Given the description of an element on the screen output the (x, y) to click on. 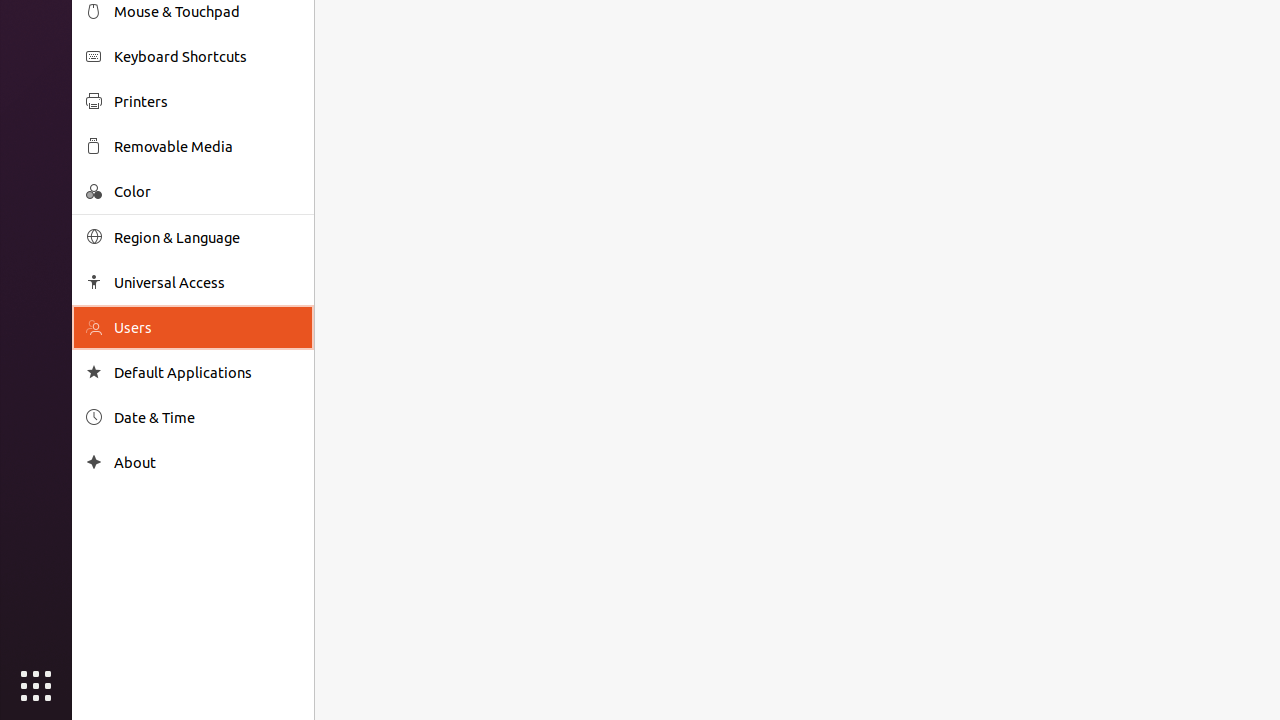
Date & Time Element type: label (207, 417)
Removable Media Element type: label (207, 146)
Mouse & Touchpad Element type: label (207, 11)
Region & Language Element type: label (207, 237)
Default Applications Element type: label (207, 372)
